Given the description of an element on the screen output the (x, y) to click on. 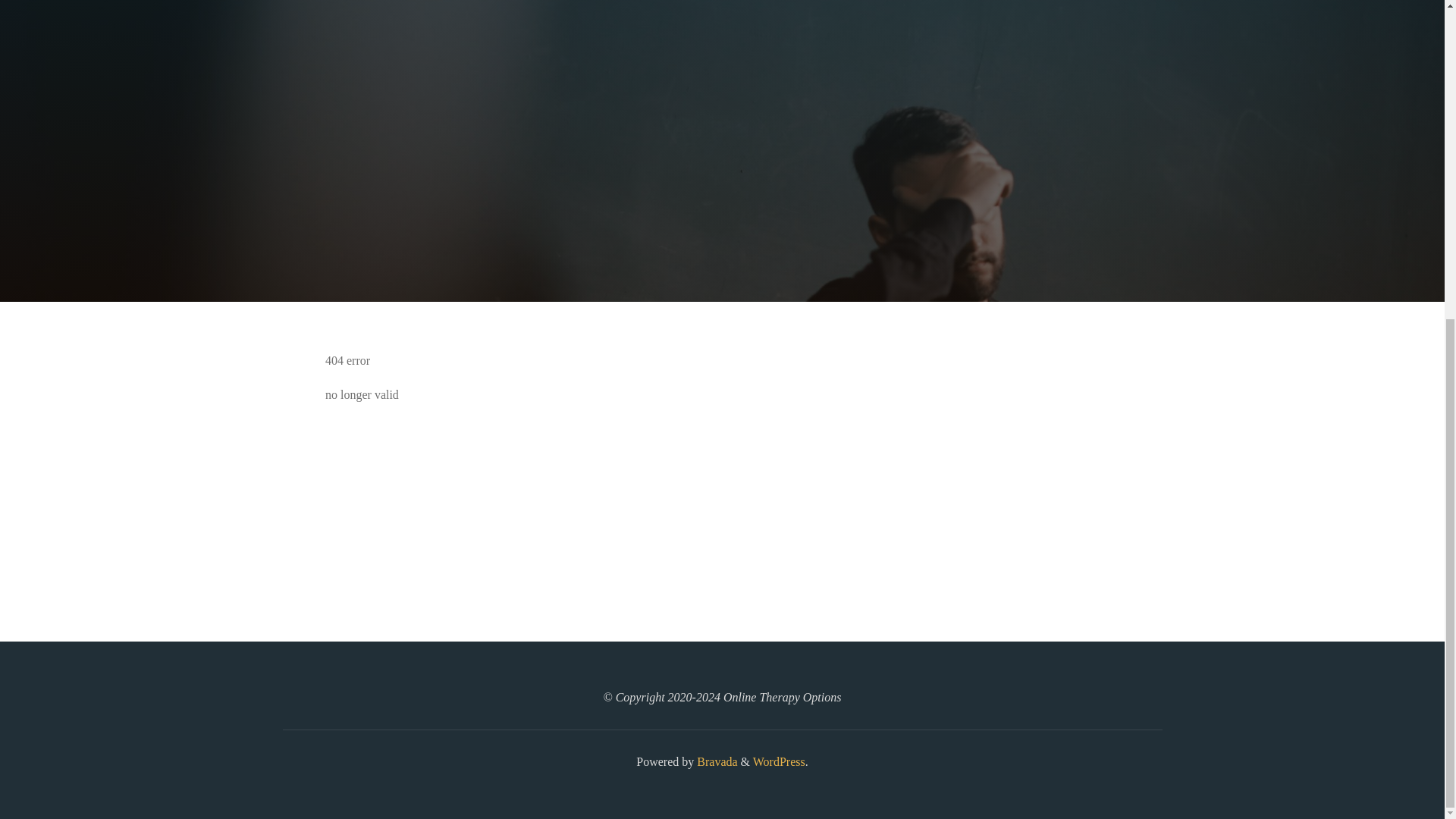
WordPress (778, 761)
Read more (721, 207)
Bravada (715, 761)
Semantic Personal Publishing Platform (778, 761)
Bravada WordPress Theme by Cryout Creations (715, 761)
